Given the description of an element on the screen output the (x, y) to click on. 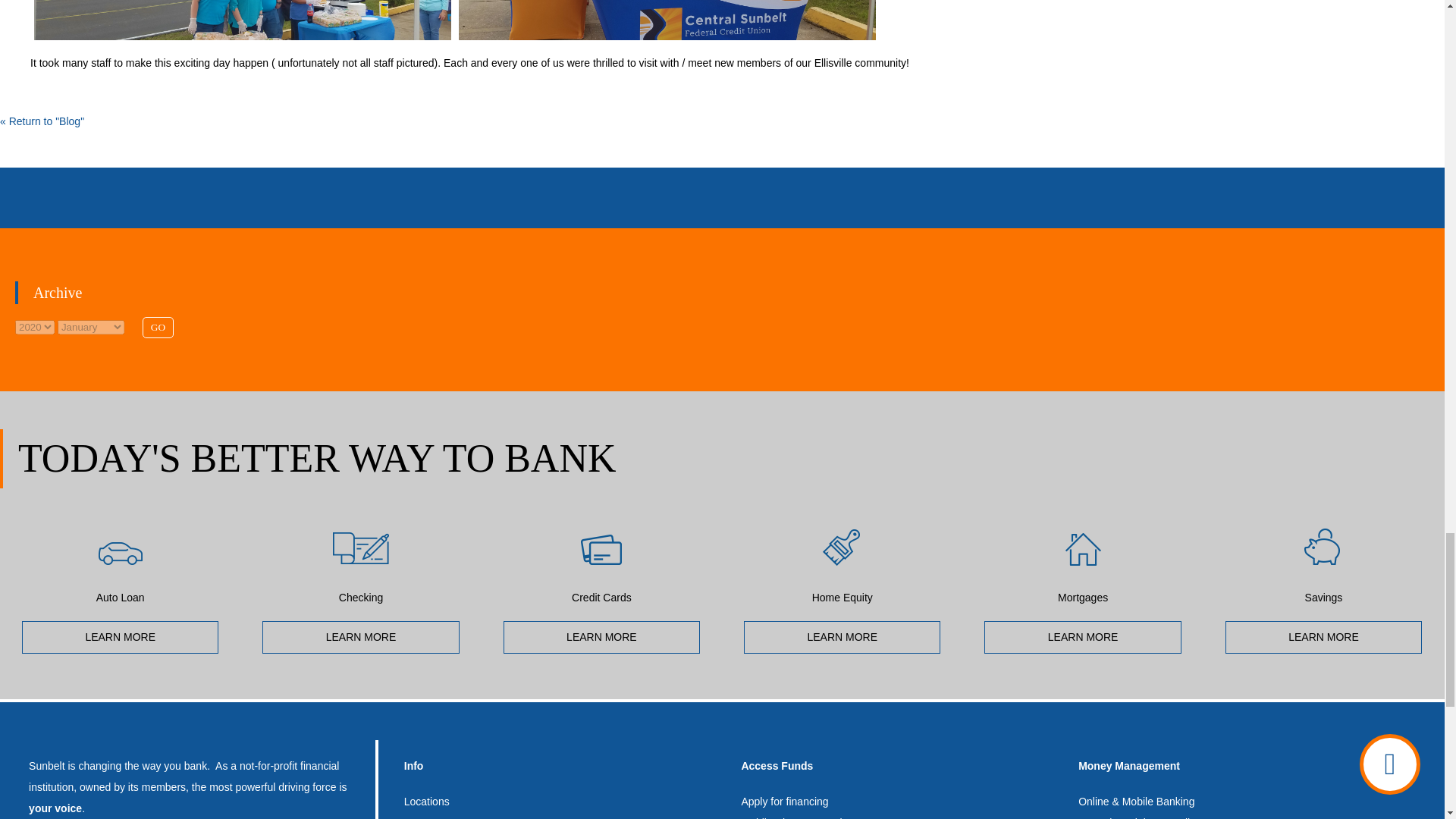
Go (157, 327)
